Given the description of an element on the screen output the (x, y) to click on. 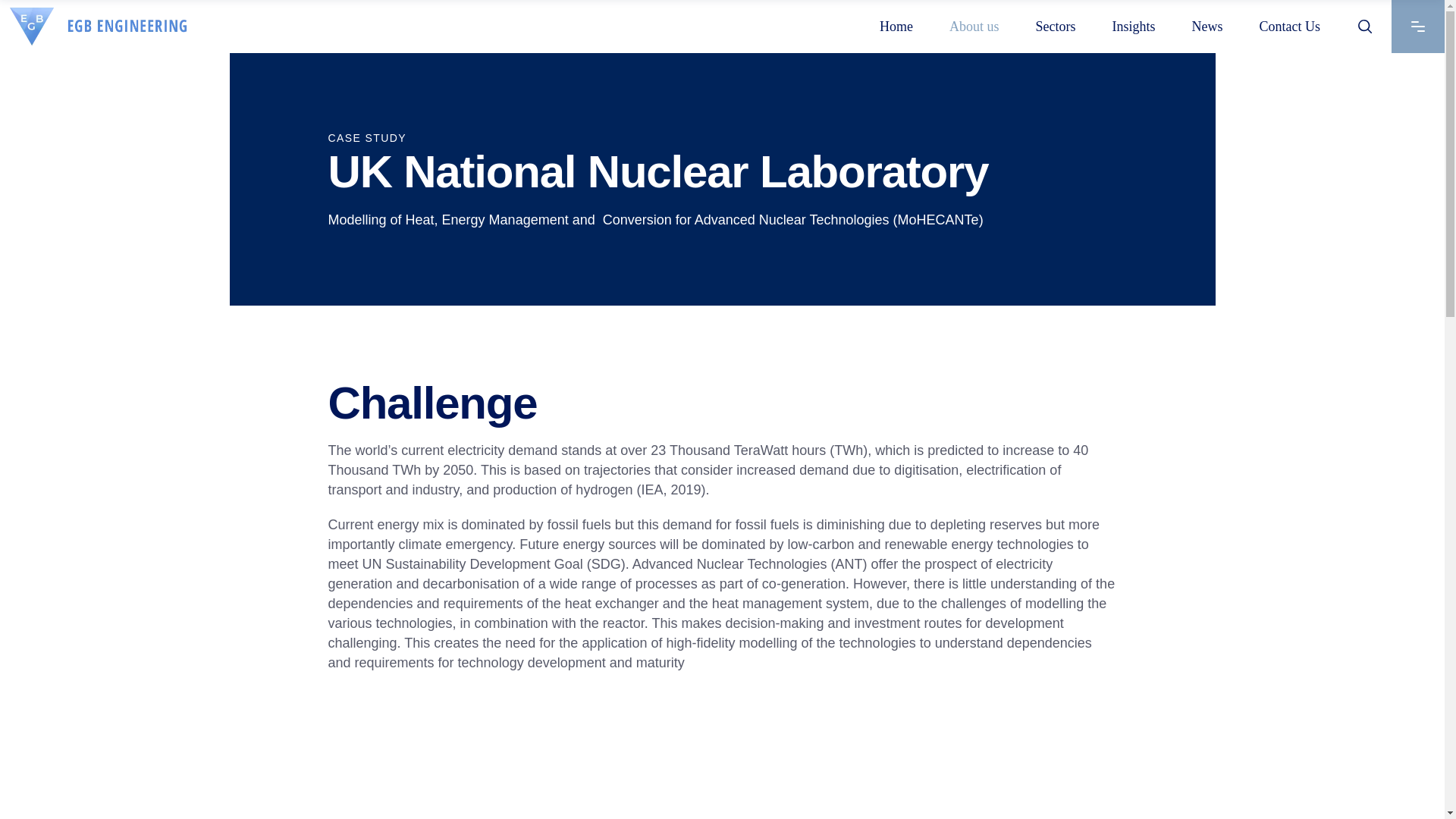
Sectors (1054, 27)
News (1207, 27)
Home (896, 27)
Insights (1133, 27)
About us (974, 27)
